Given the description of an element on the screen output the (x, y) to click on. 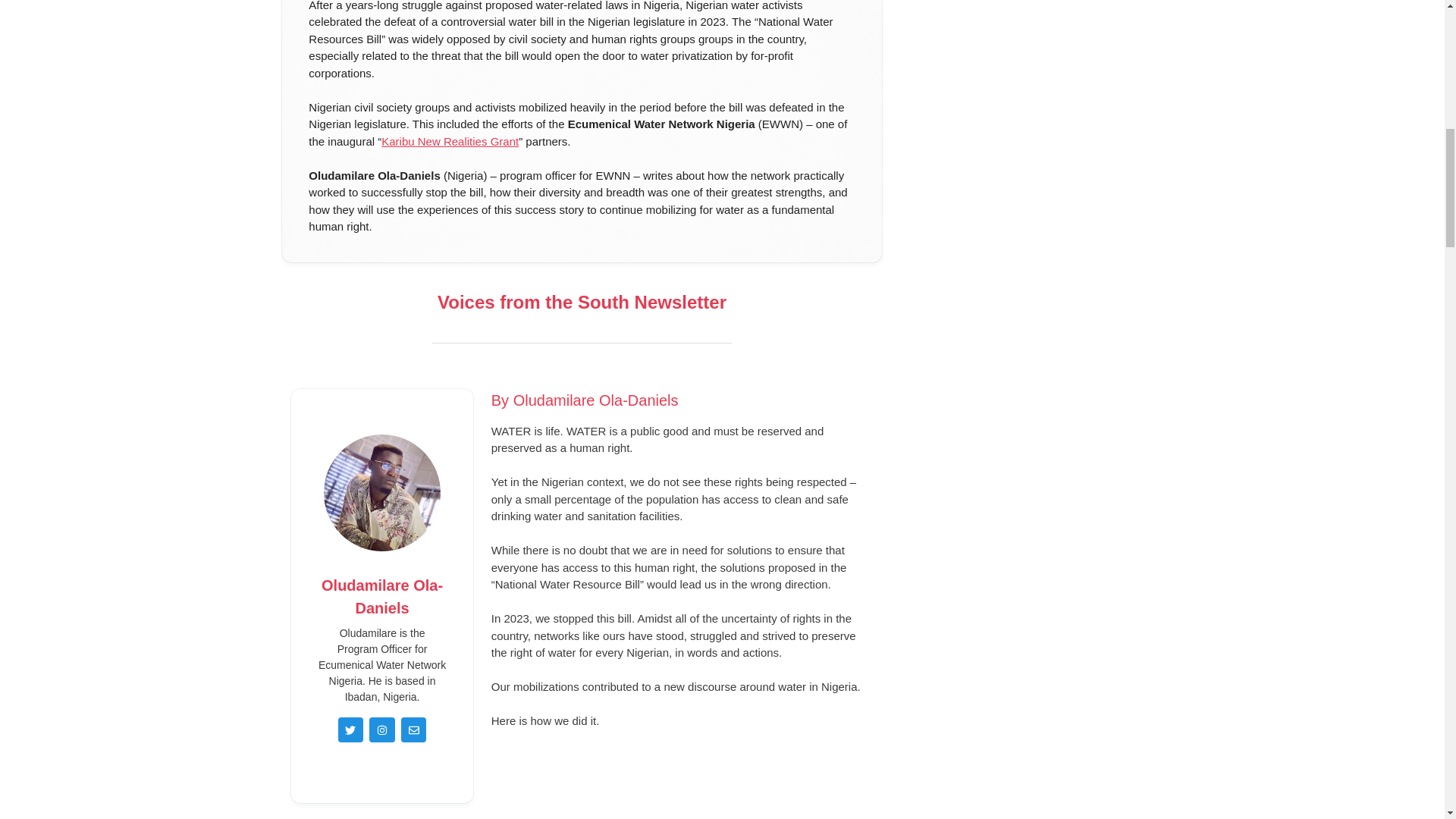
Karibu New Realities Grant (449, 141)
